Given the description of an element on the screen output the (x, y) to click on. 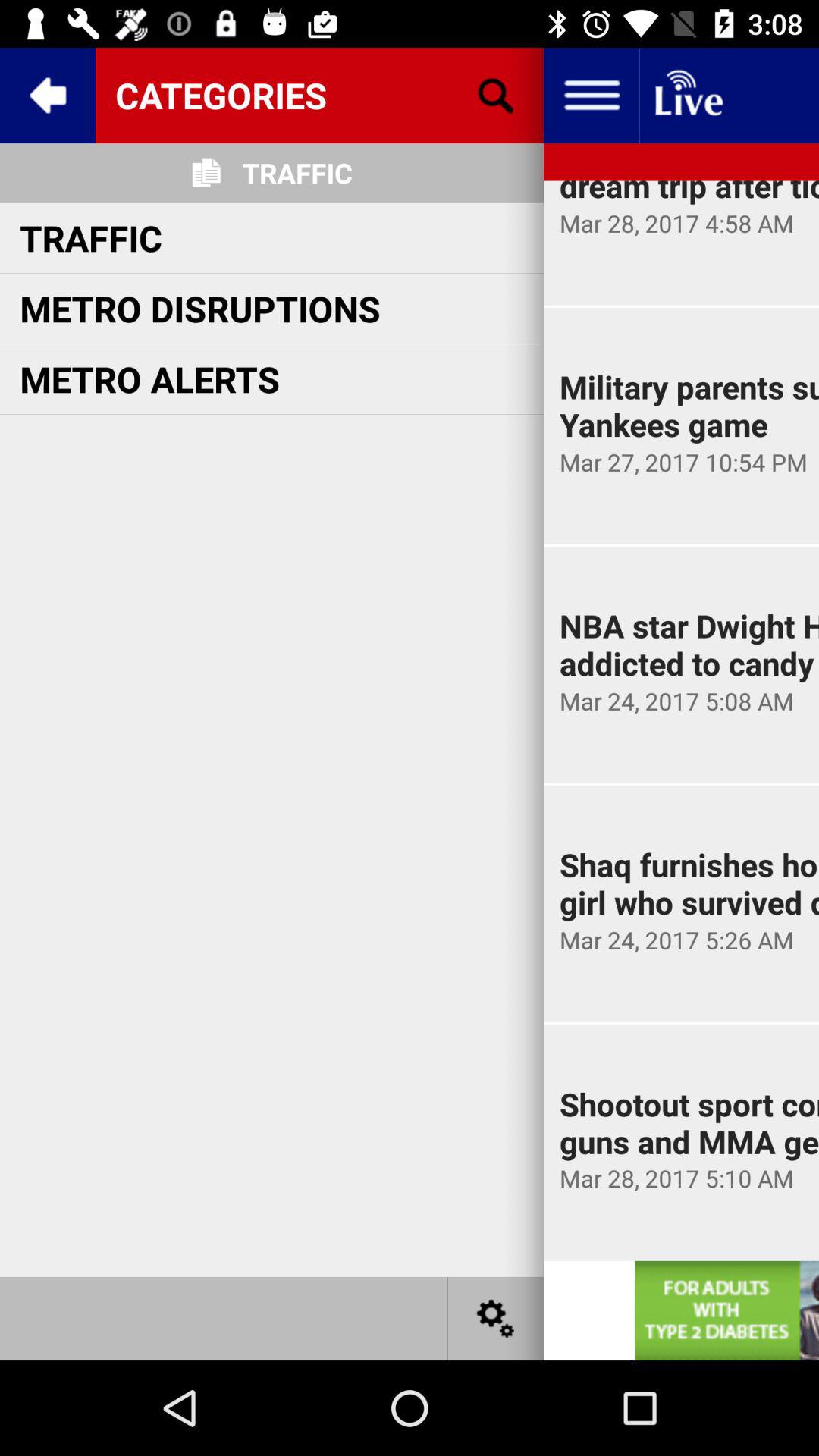
select the menu option (591, 95)
